Given the description of an element on the screen output the (x, y) to click on. 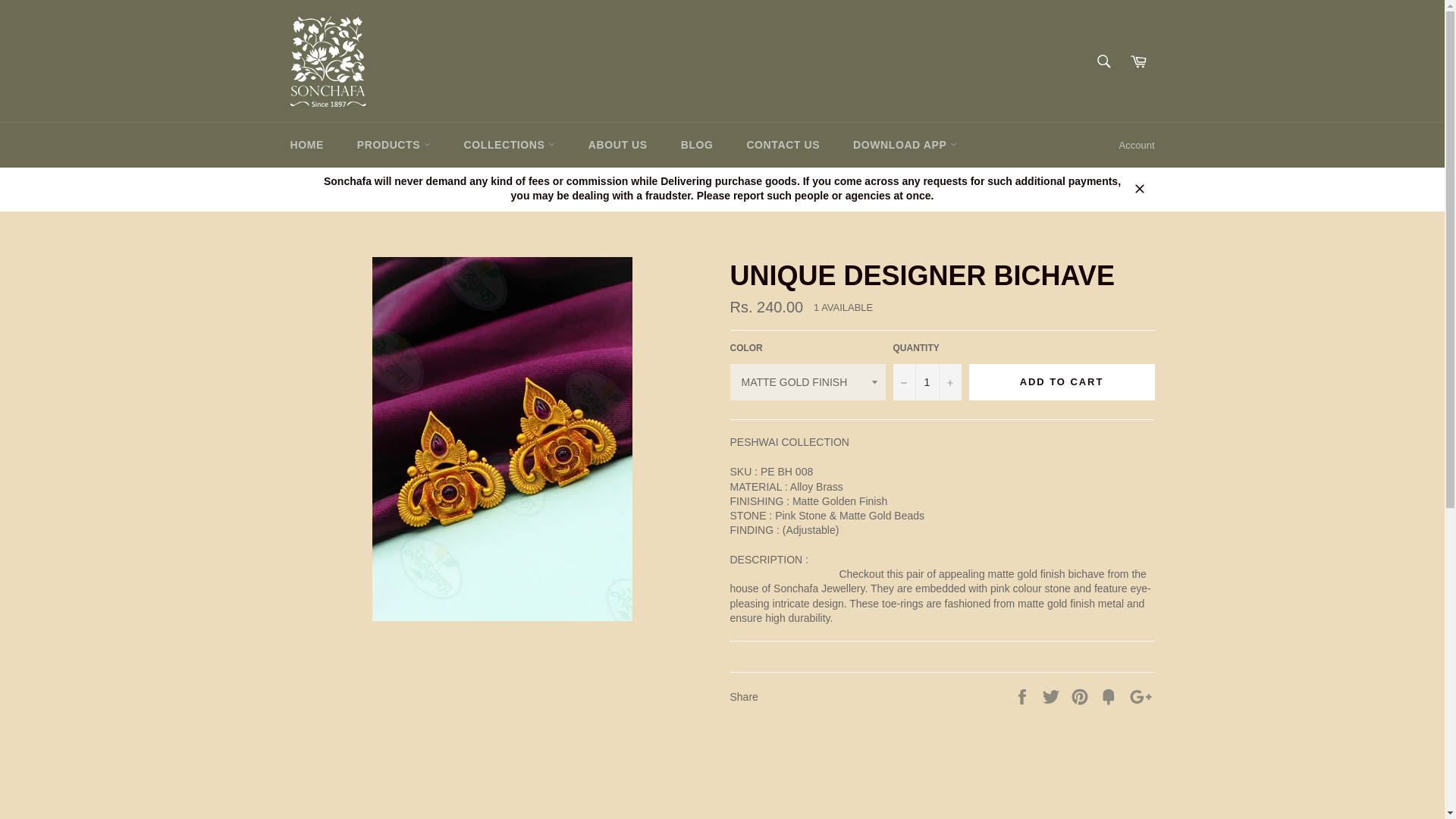
Share on Facebook (1023, 695)
Add to Fancy (1110, 695)
1 (926, 381)
Pin on Pinterest (1081, 695)
Tweet on Twitter (1052, 695)
